Given the description of an element on the screen output the (x, y) to click on. 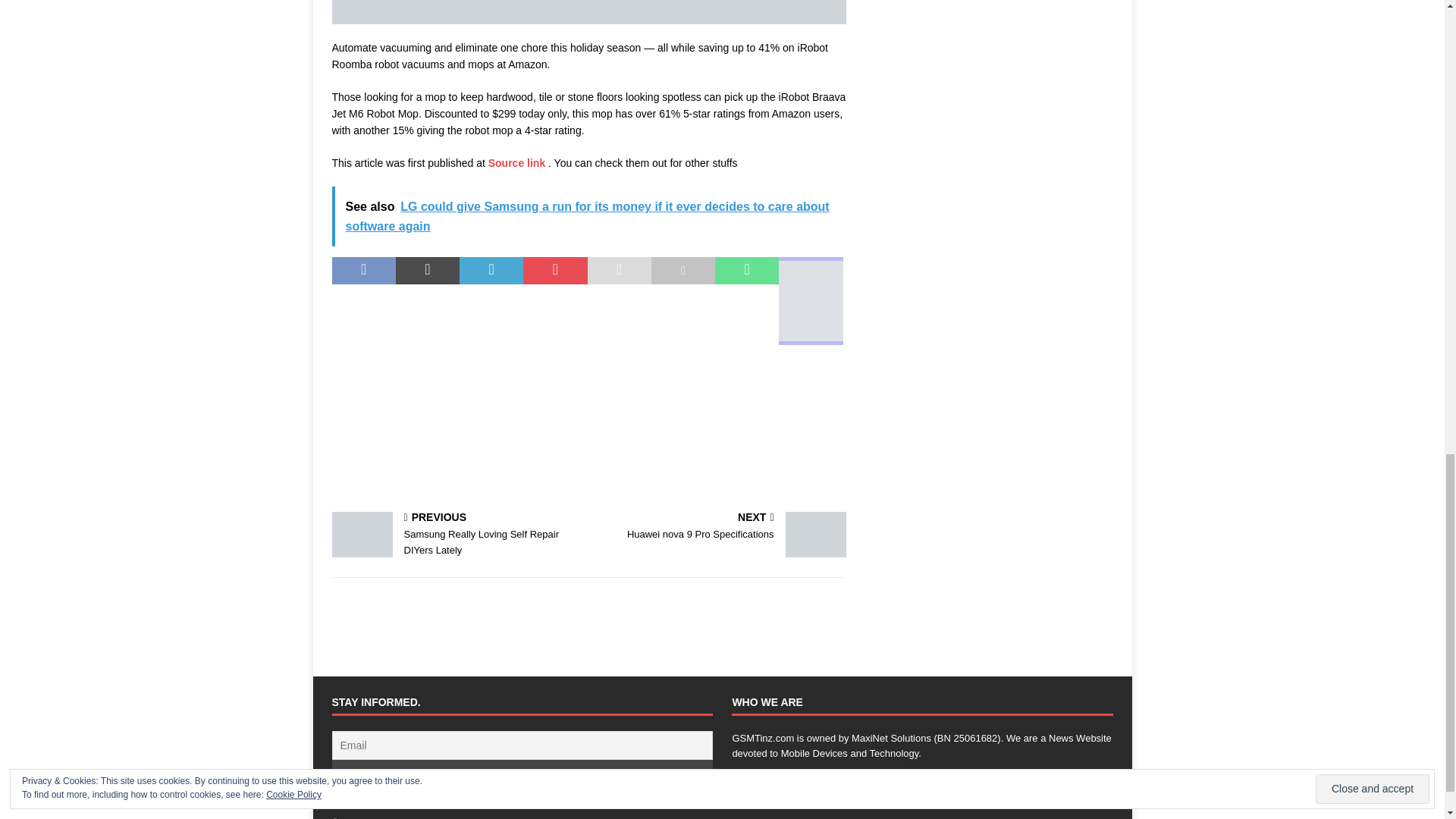
Join our friends (457, 534)
Source link (522, 773)
